Given the description of an element on the screen output the (x, y) to click on. 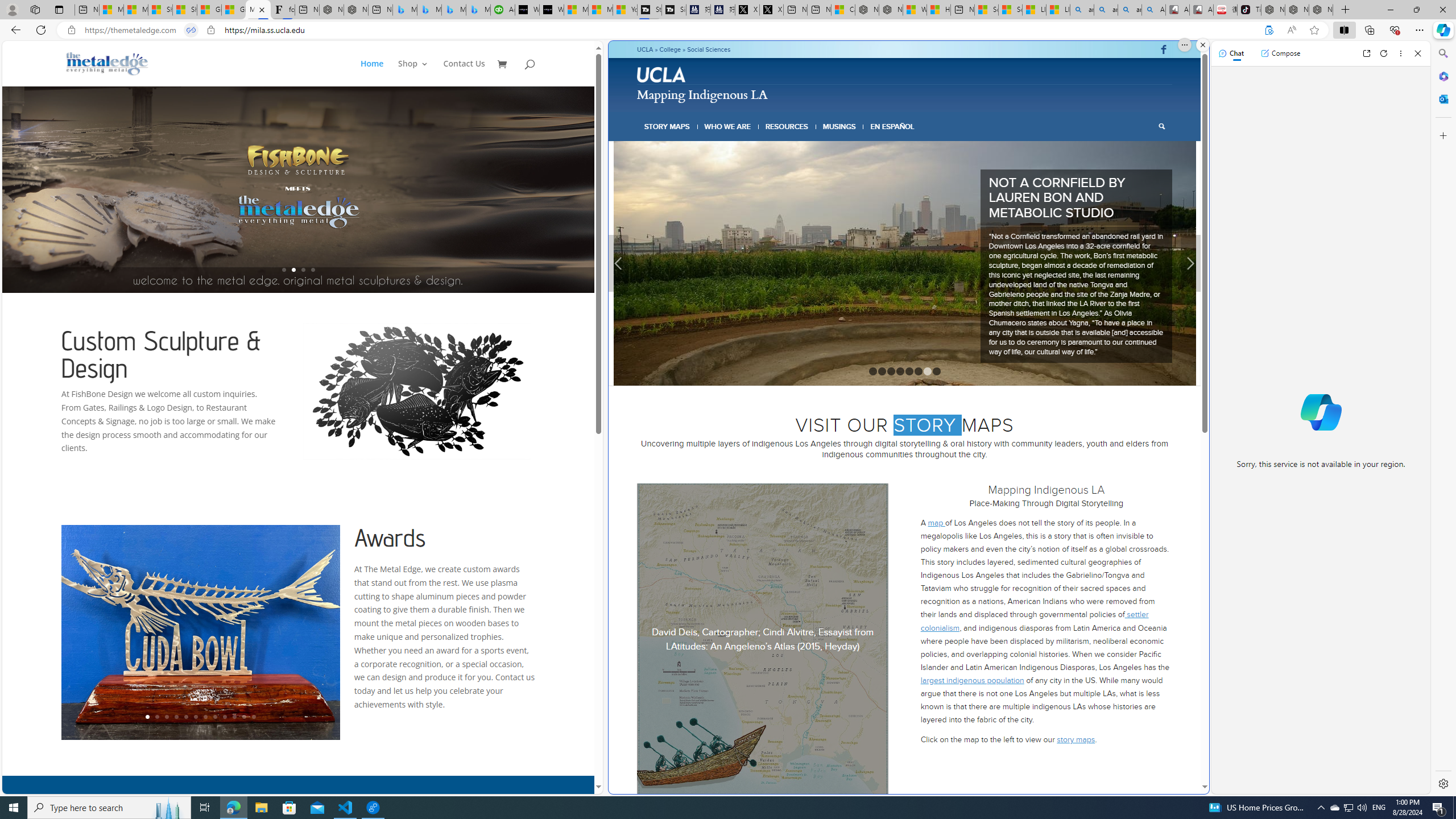
4 (899, 320)
12 (253, 716)
Alvitre map latitudes1 (763, 588)
6 (918, 320)
5 (908, 320)
STORY MAPS (667, 126)
Nordace - Siena Pro 15 Essential Set (1321, 9)
7 (927, 320)
Contact Us (463, 72)
